Given the description of an element on the screen output the (x, y) to click on. 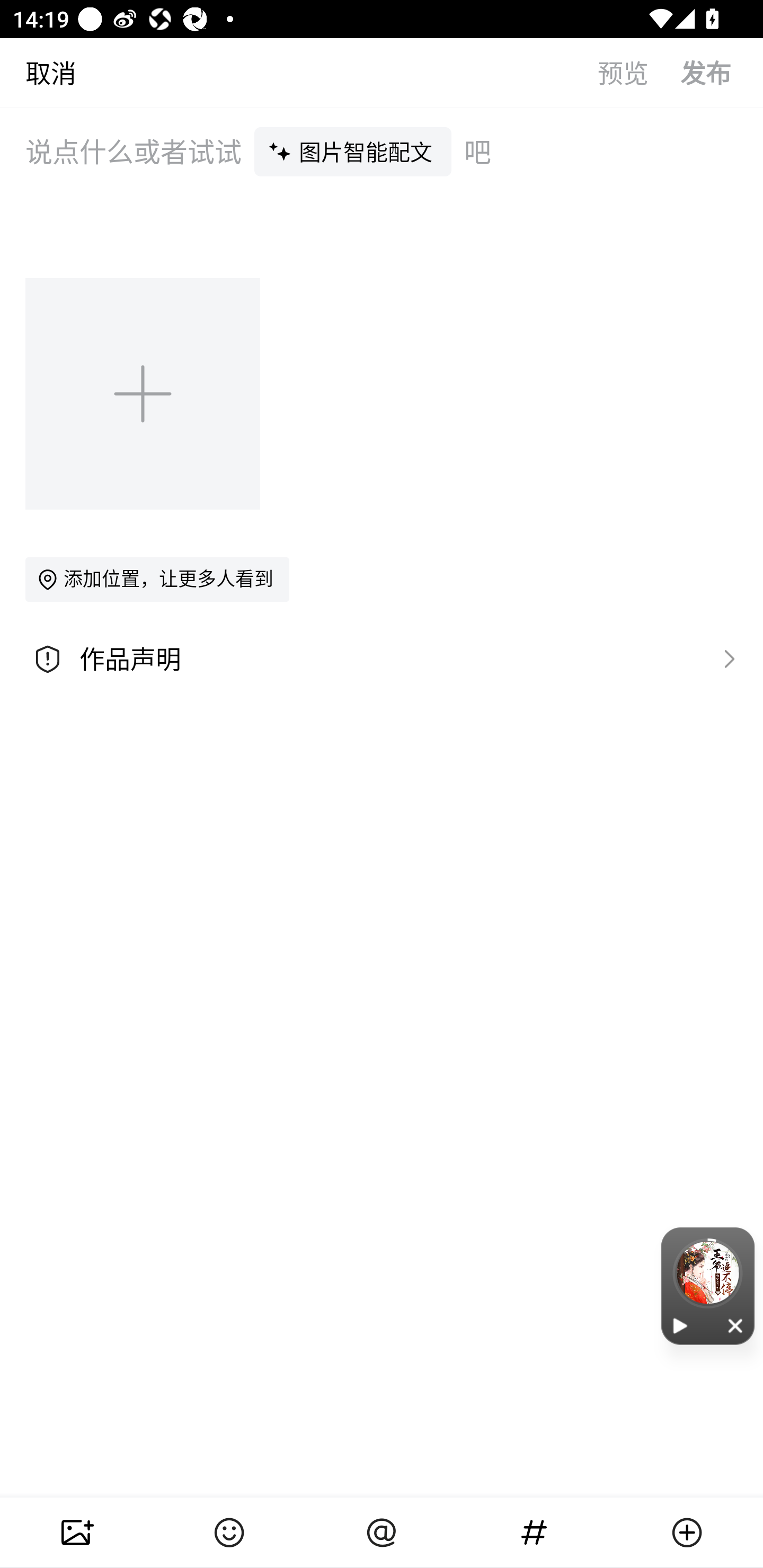
取消 (38, 71)
预览 (638, 71)
发布 (721, 71)
图片智能配文 (352, 151)
添加图片 (144, 393)
添加位置，让更多人看到 (157, 579)
作品声明 高级设置 作品声明 高级设置 (381, 658)
高级设置 (724, 658)
播放 关闭 (708, 1286)
播放 (680, 1325)
关闭 (736, 1325)
相册 (76, 1532)
表情 (228, 1532)
at (381, 1532)
话题 (533, 1532)
更多 (686, 1532)
